Given the description of an element on the screen output the (x, y) to click on. 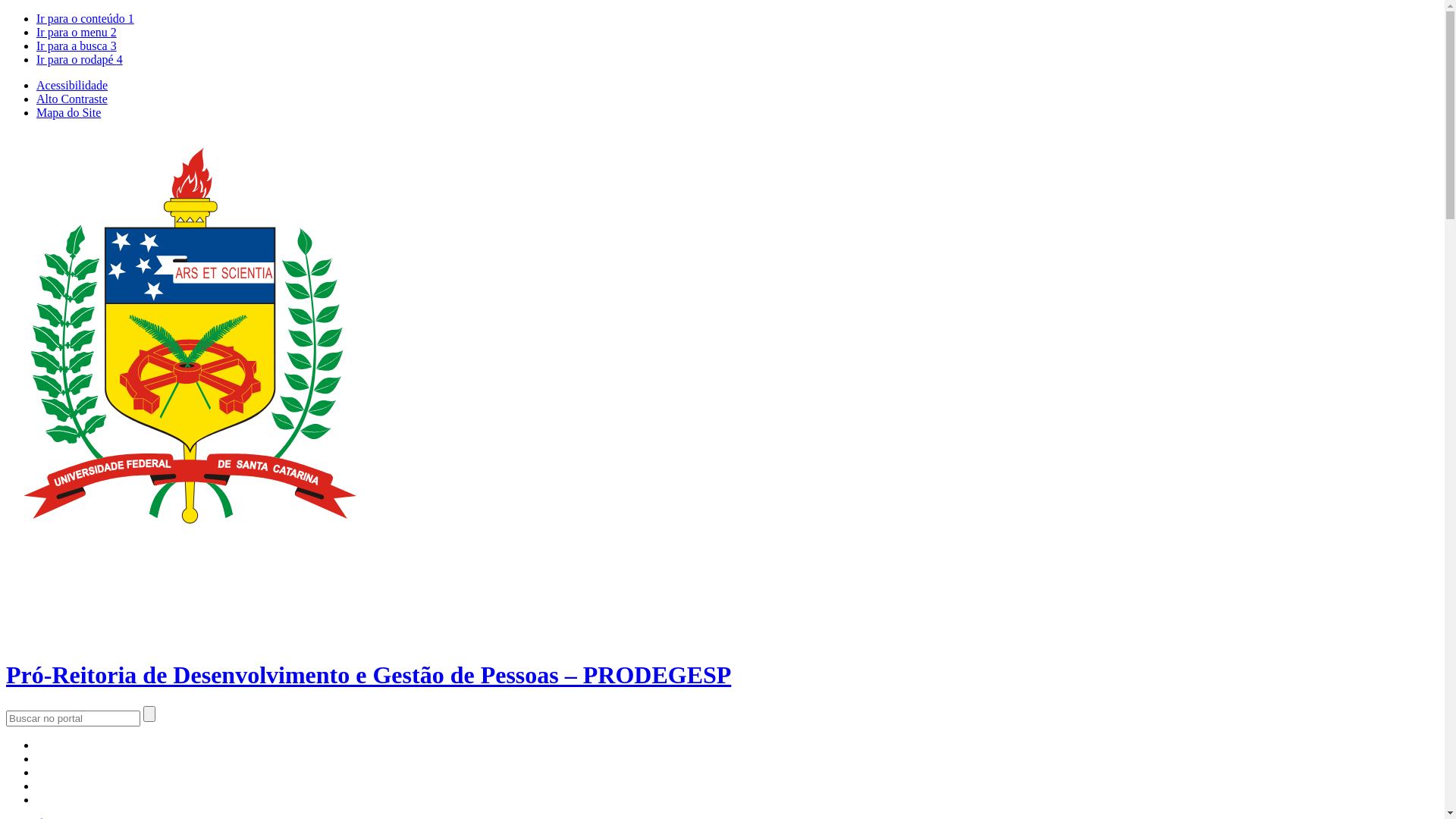
Ir para o menu 2 Element type: text (76, 31)
Alto Contraste Element type: text (71, 98)
Mapa do Site Element type: text (68, 112)
Acessibilidade Element type: text (71, 84)
Ir para a busca 3 Element type: text (76, 45)
